Given the description of an element on the screen output the (x, y) to click on. 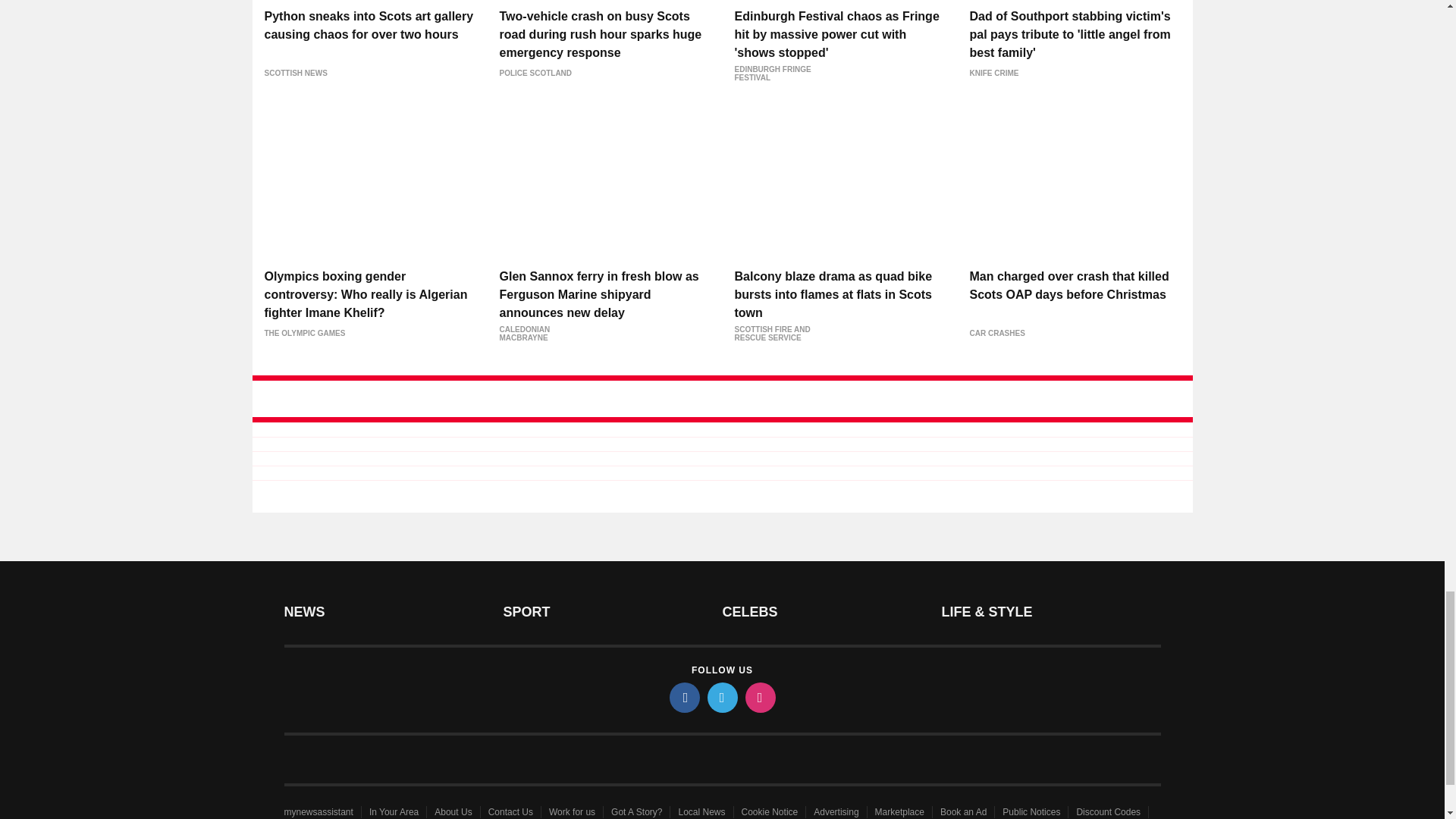
instagram (759, 697)
facebook (683, 697)
twitter (721, 697)
